Given the description of an element on the screen output the (x, y) to click on. 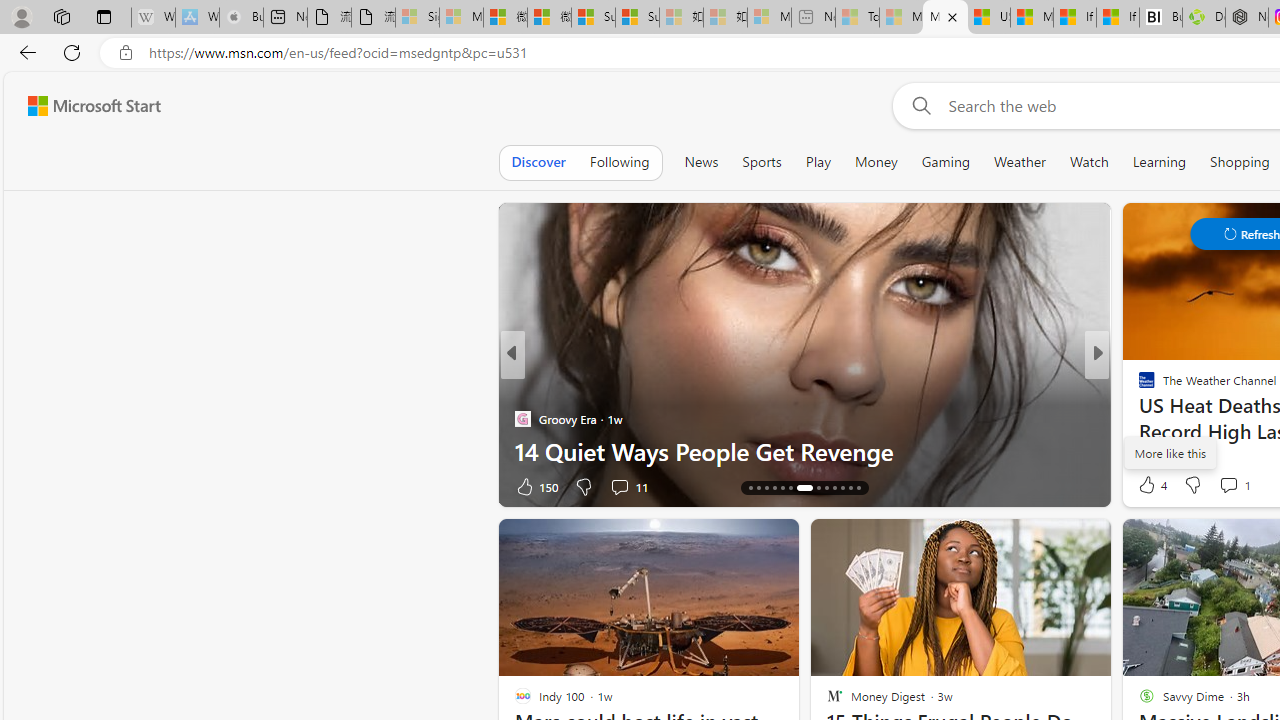
3 Like (1145, 486)
BBC (1138, 386)
AutomationID: tab-26 (857, 487)
Following (619, 161)
View comments 3 Comment (1241, 486)
AutomationID: tab-16 (765, 487)
Dislike (1191, 484)
AutomationID: tab-21 (818, 487)
Watch (1089, 161)
Play (817, 161)
Sign in to your Microsoft account - Sleeping (417, 17)
Refresh (72, 52)
Discover (538, 162)
View comments 11 Comment (628, 486)
